Given the description of an element on the screen output the (x, y) to click on. 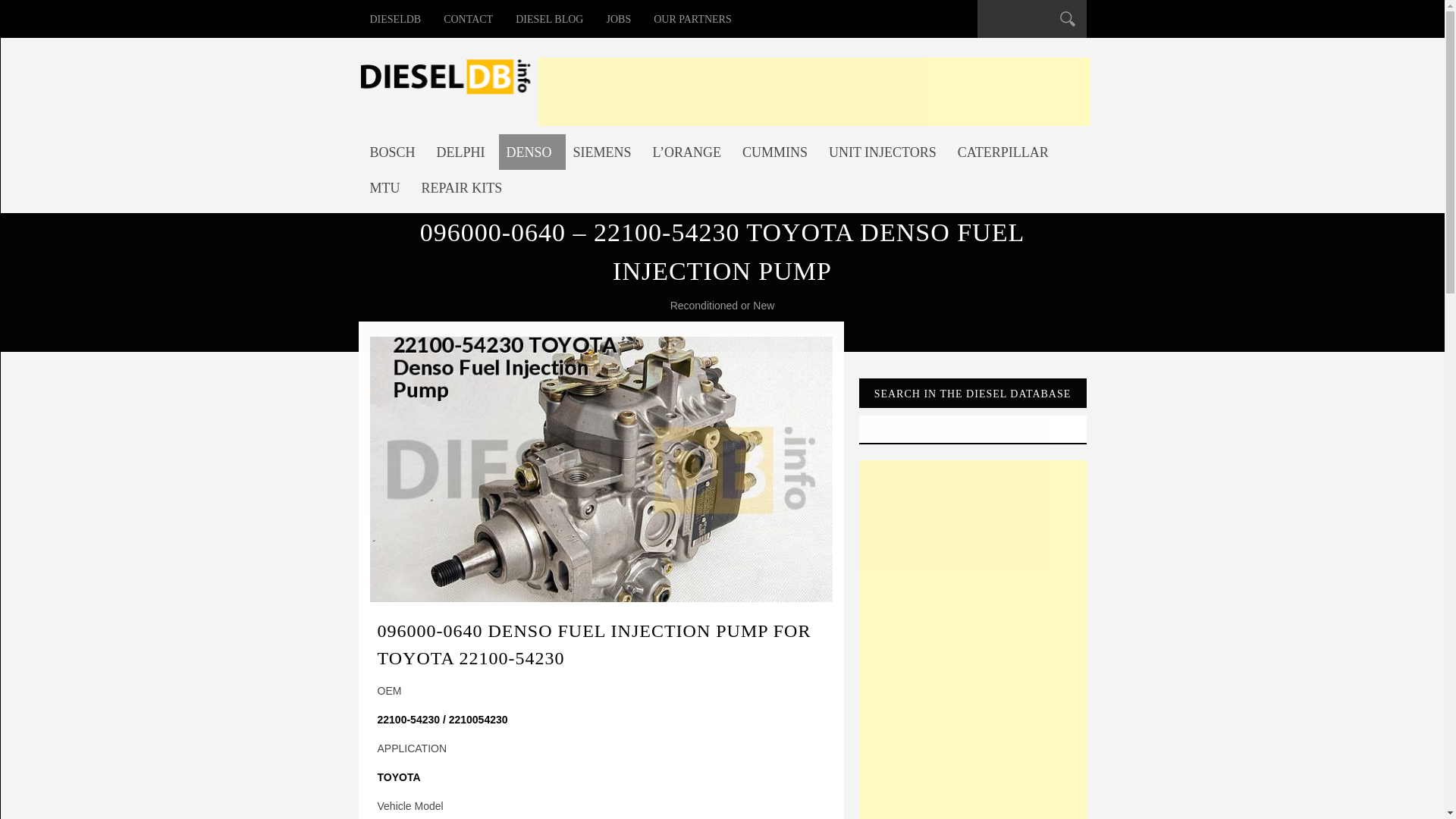
Search... (1022, 21)
The Diesel Injectors, Pumps and Accessories Database (395, 18)
Advertisement (814, 91)
BOSCH Diesel Injectors and Pumps (395, 151)
